Given the description of an element on the screen output the (x, y) to click on. 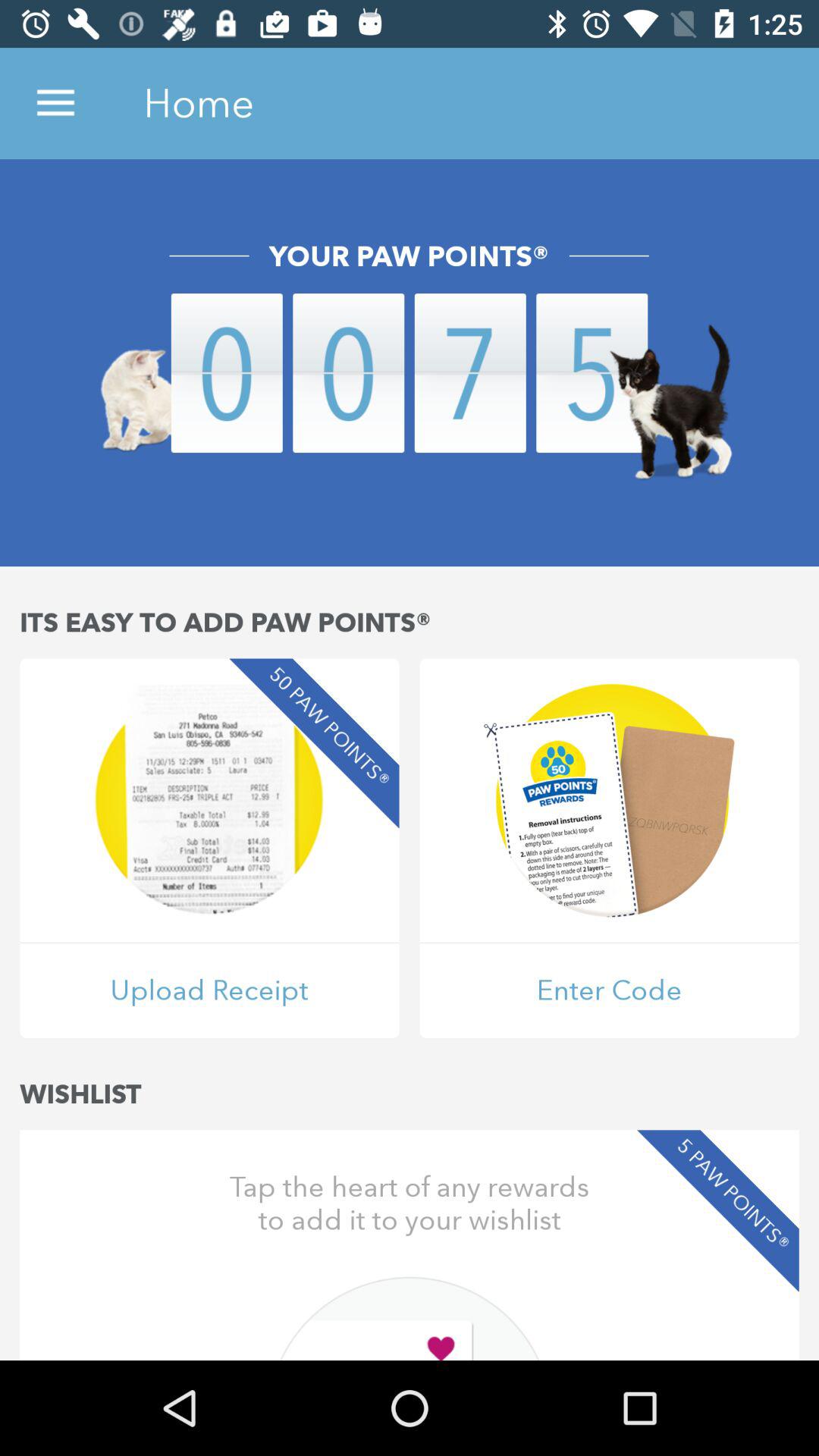
click icon to the left of the home item (55, 103)
